Given the description of an element on the screen output the (x, y) to click on. 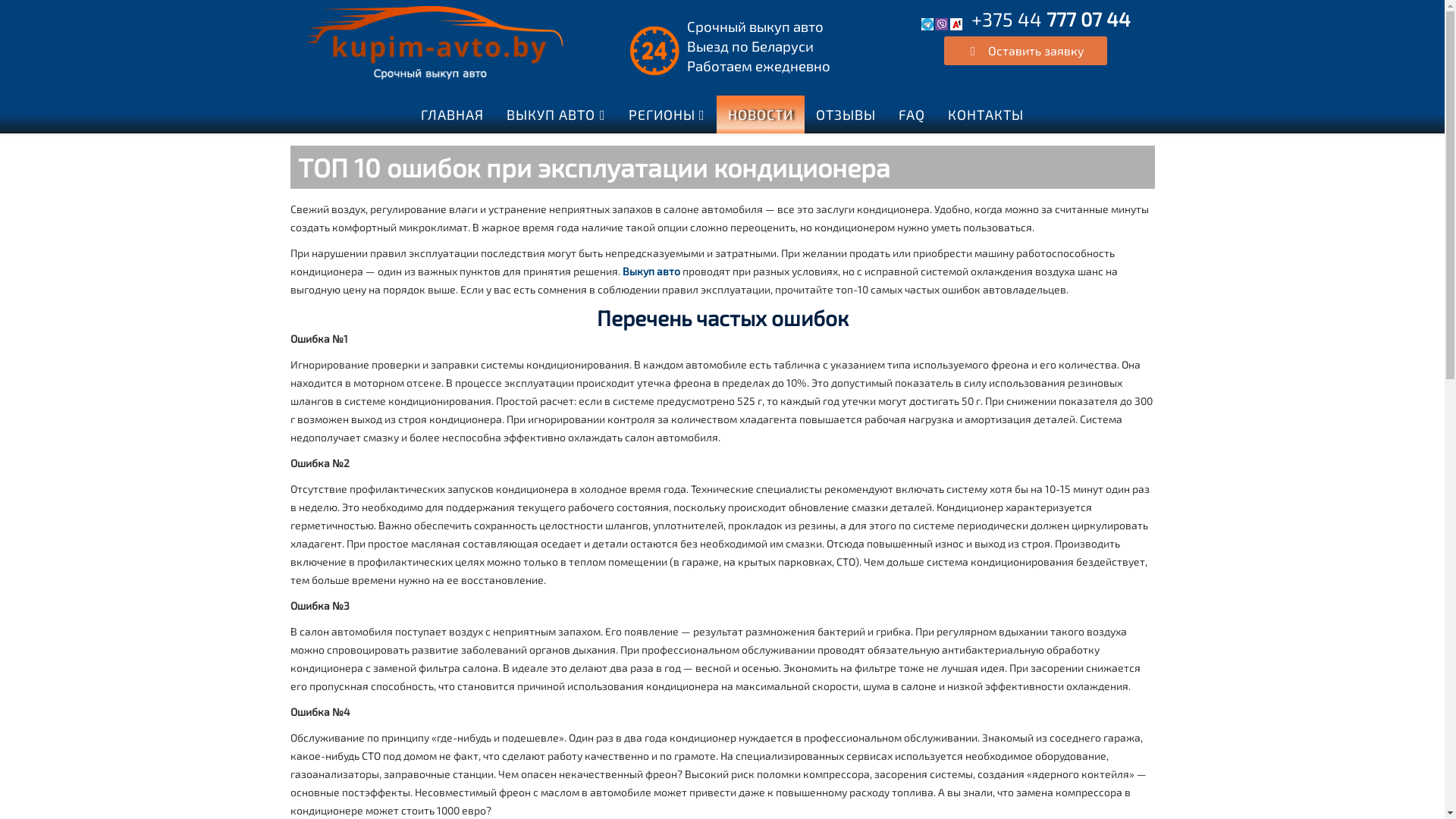
+375 44 777 07 44 Element type: text (1049, 23)
FAQ Element type: text (911, 114)
